Given the description of an element on the screen output the (x, y) to click on. 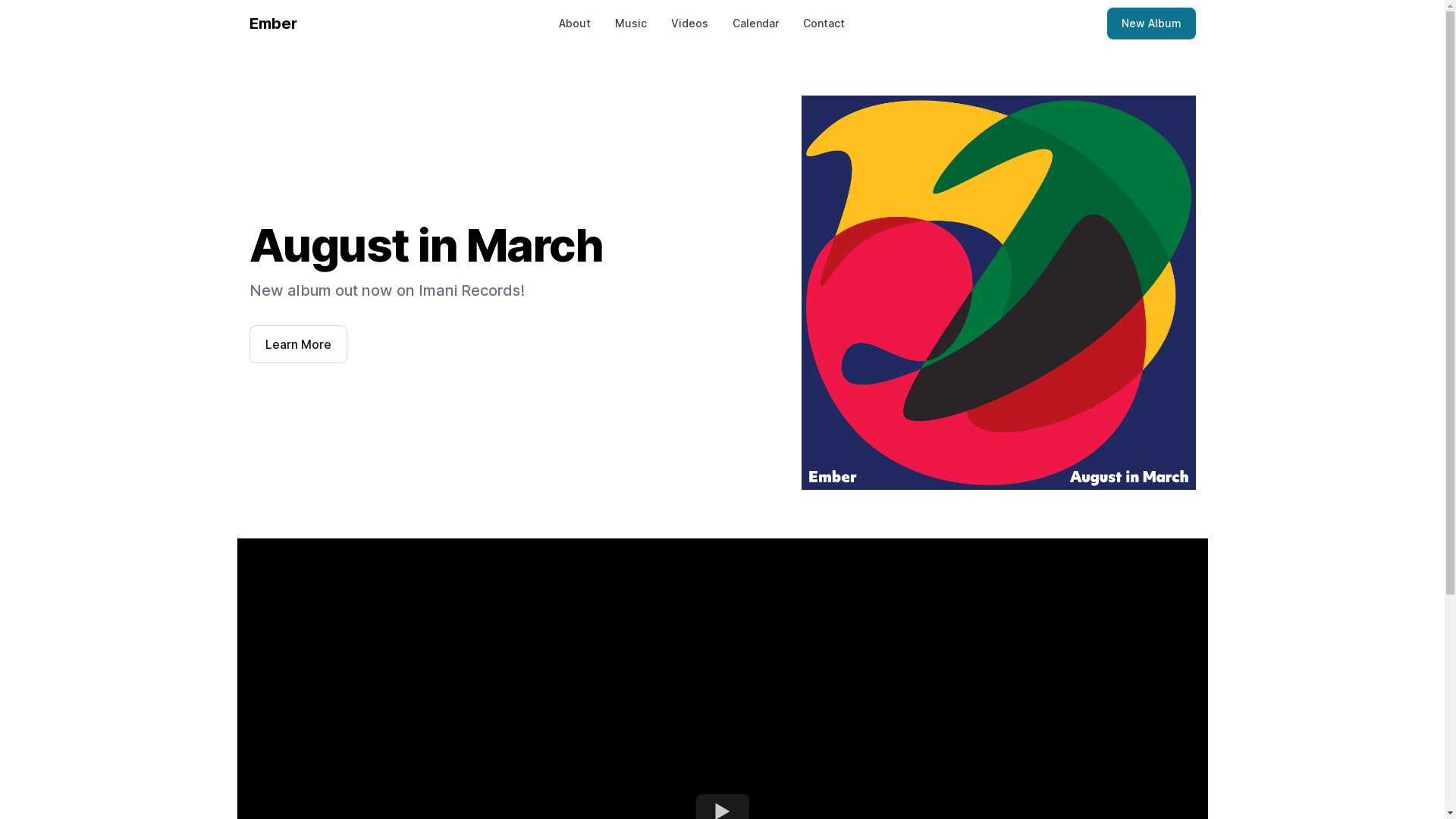
Ember Element type: text (272, 23)
Calendar Element type: text (755, 23)
Contact Element type: text (823, 23)
Learn More Element type: text (297, 344)
About Element type: text (574, 23)
Music Element type: text (630, 23)
Videos Element type: text (689, 23)
New Album Element type: text (1151, 23)
